Given the description of an element on the screen output the (x, y) to click on. 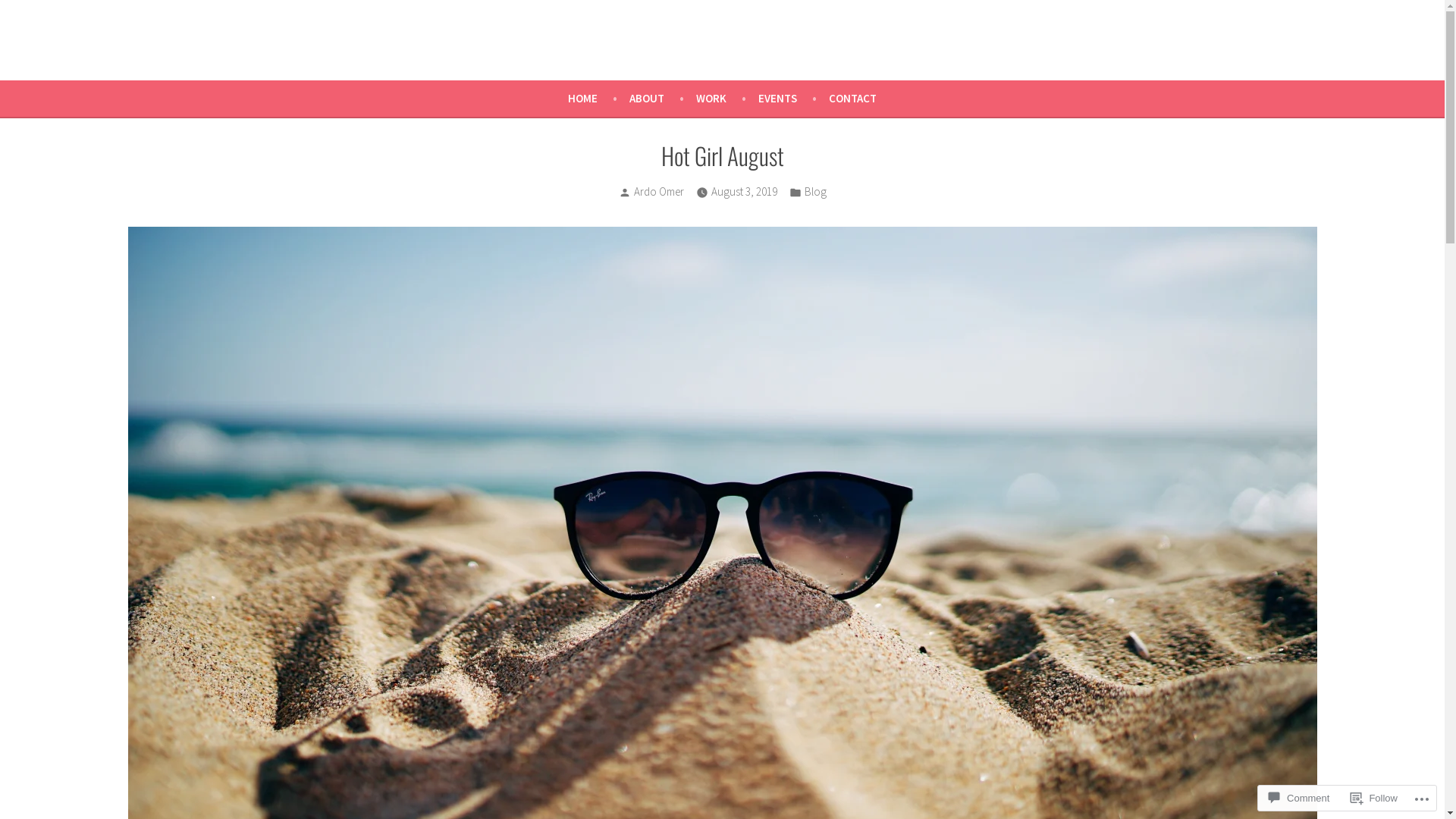
WORK Element type: text (727, 98)
HOME Element type: text (598, 98)
Ardo Omer Element type: text (658, 191)
Blog Element type: text (814, 192)
Follow Element type: text (1373, 797)
EVENTS Element type: text (793, 98)
August 3, 2019 Element type: text (744, 192)
Comment Element type: text (1298, 797)
Ardo Omer Element type: text (51, 58)
CONTACT Element type: text (852, 98)
ABOUT Element type: text (662, 98)
